Given the description of an element on the screen output the (x, y) to click on. 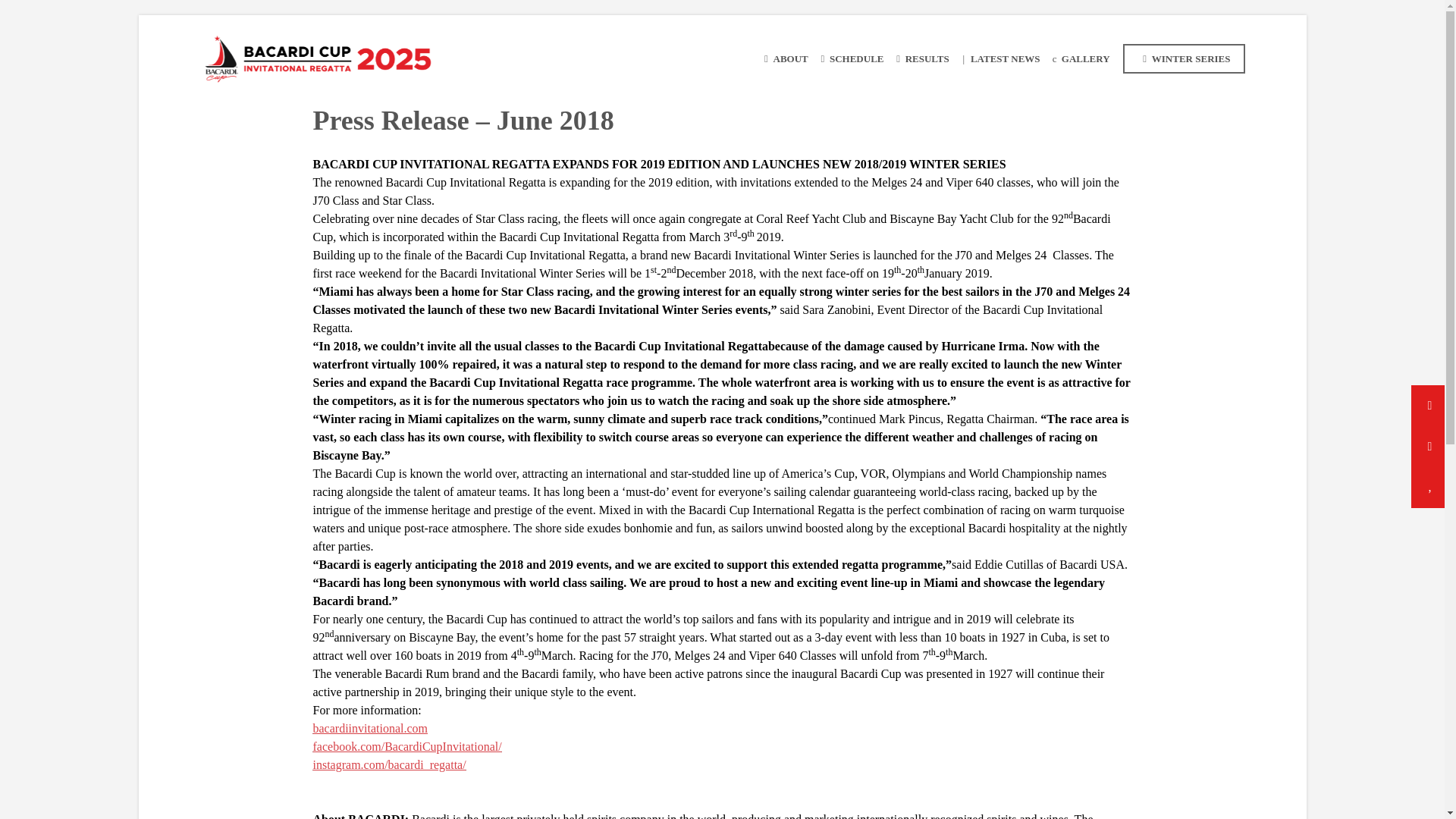
SCHEDULE (850, 58)
LATEST NEWS (998, 58)
bacardiinvitational.com (370, 727)
Bacardi Invitational Regatta (318, 58)
WINTER SERIES (1184, 58)
ABOUT (782, 58)
RESULTS (919, 58)
GALLERY (1078, 58)
